Given the description of an element on the screen output the (x, y) to click on. 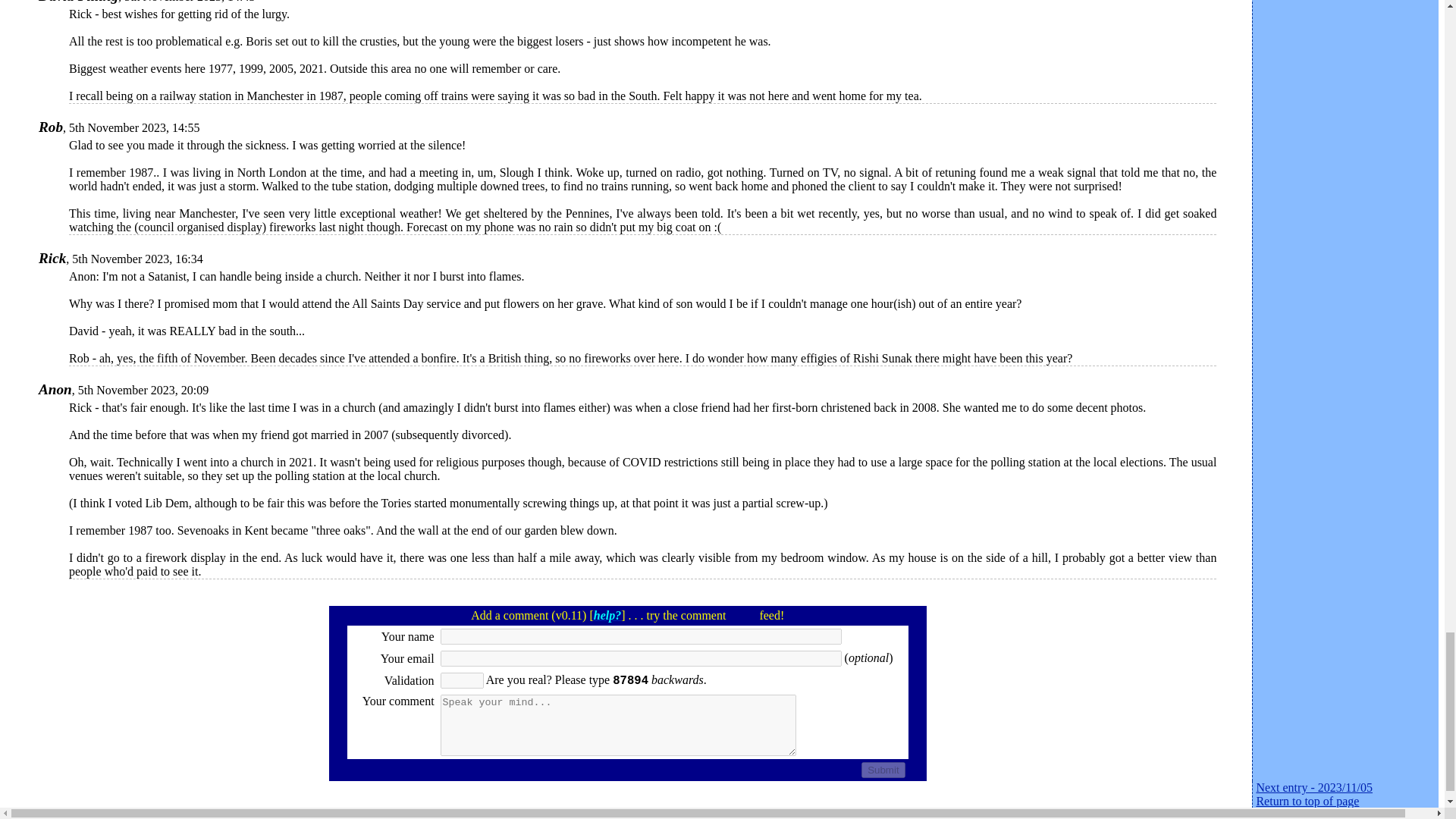
Submit (882, 770)
Submit (882, 770)
help? (607, 615)
